Given the description of an element on the screen output the (x, y) to click on. 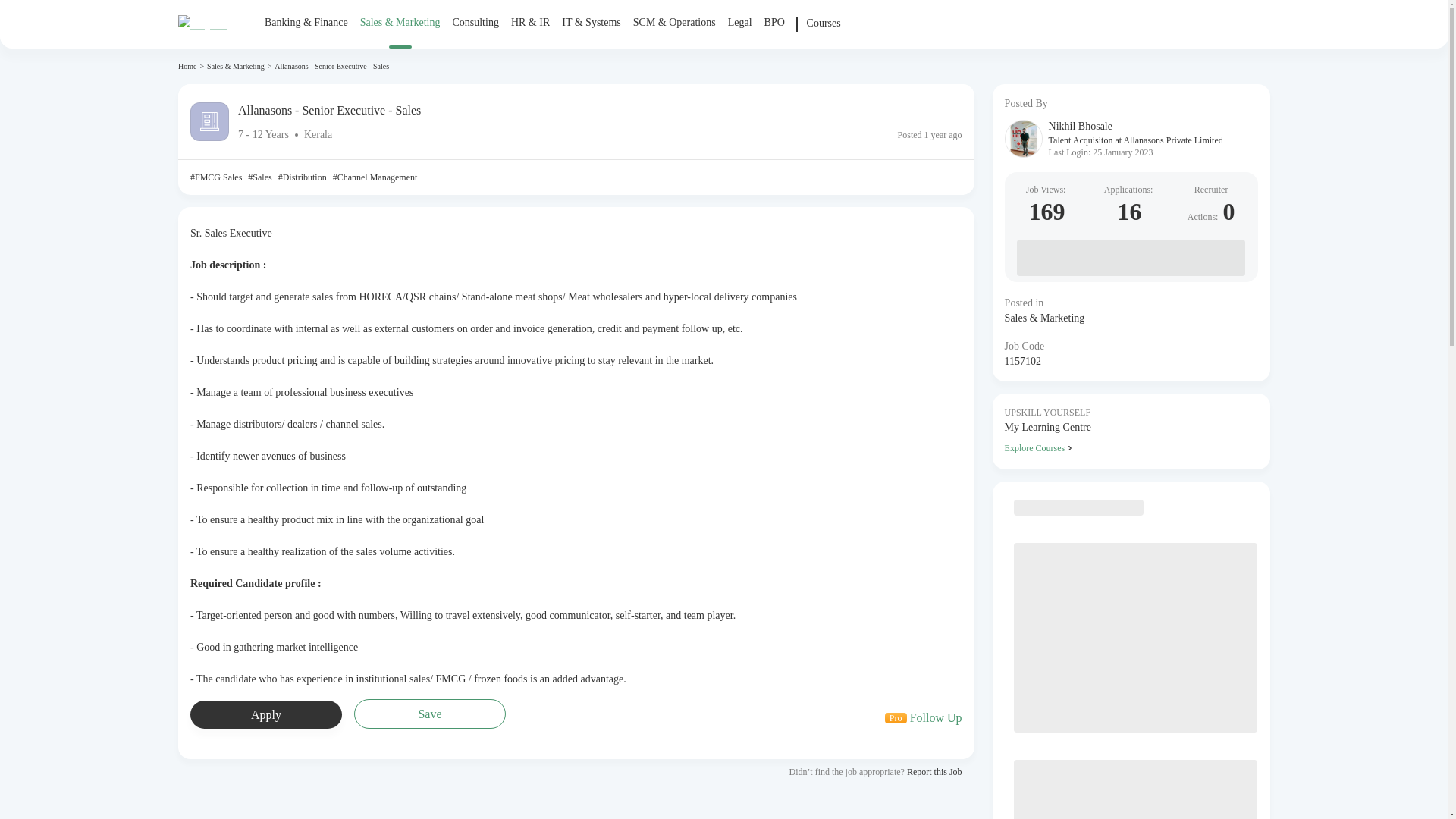
Nikhil Bhosale (1135, 126)
Consulting (474, 22)
Explore Courses (1130, 447)
Apply (923, 717)
Courses (266, 714)
Consulting (823, 31)
Home (474, 31)
Save (186, 66)
